Given the description of an element on the screen output the (x, y) to click on. 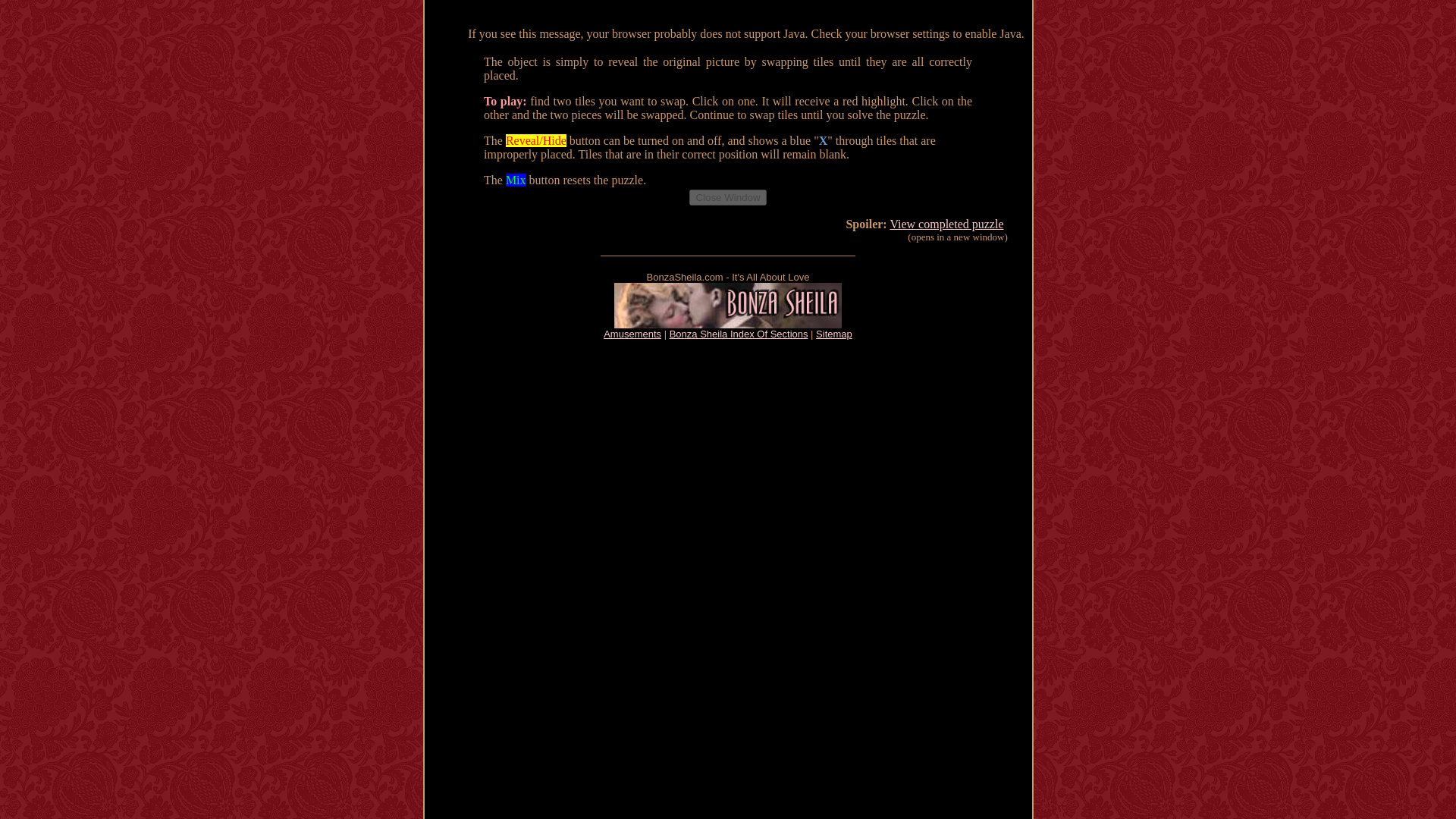
Bonza Sheila Index Of Sections (738, 333)
Advertisement (727, 386)
View completed puzzle (946, 223)
Sitemap (833, 333)
Close Window (726, 197)
Amusements (632, 333)
